Given the description of an element on the screen output the (x, y) to click on. 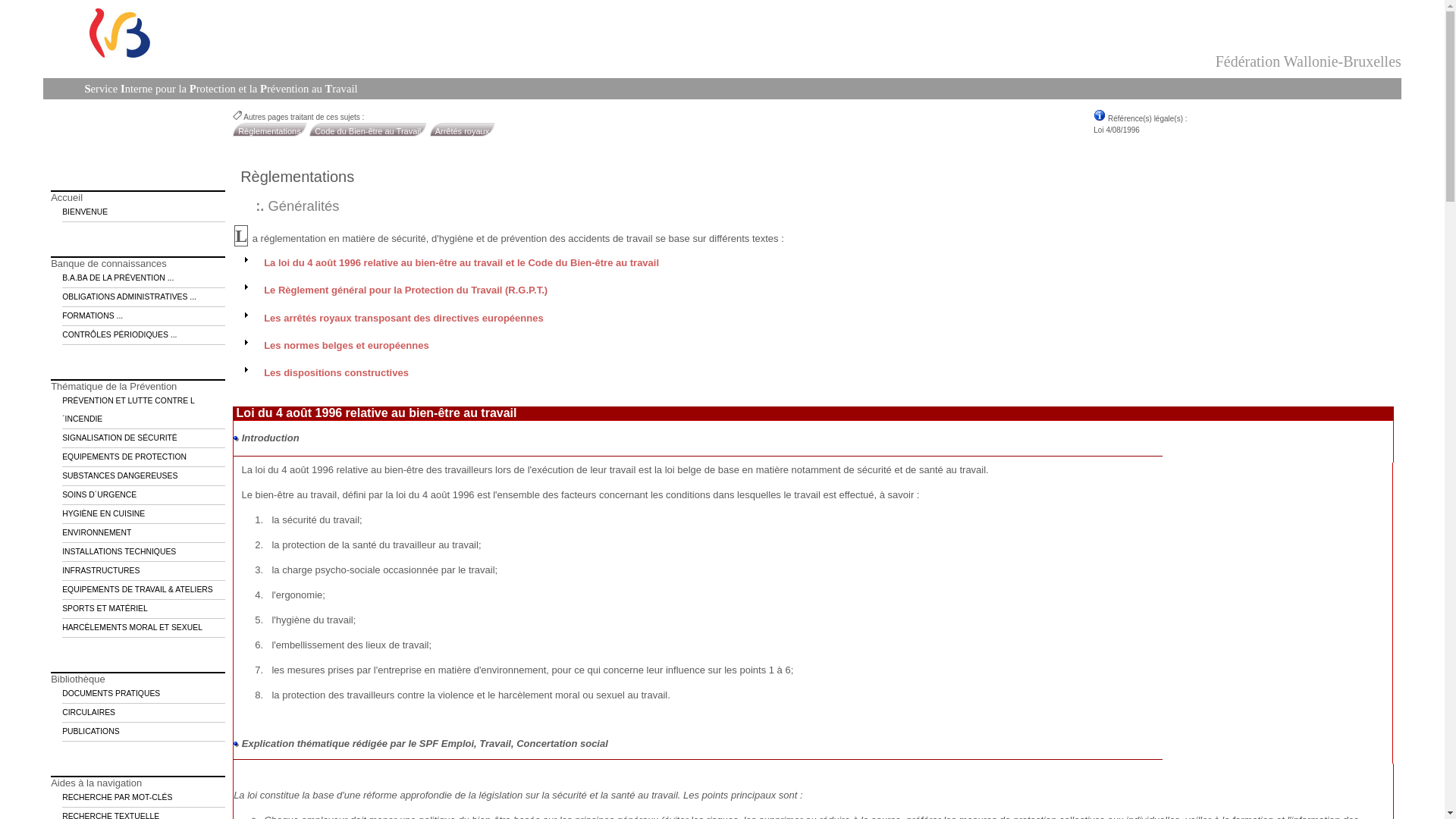
BIENVENUE Element type: text (143, 212)
FORMATIONS ... Element type: text (137, 316)
DOCUMENTS PRATIQUES Element type: text (137, 693)
ENVIRONNEMENT Element type: text (143, 533)
FORMATIONS ... Element type: text (143, 316)
EQUIPEMENTS DE TRAVAIL & ATELIERS Element type: text (143, 589)
SUBSTANCES DANGEREUSES Element type: text (143, 476)
EQUIPEMENTS DE PROTECTION Element type: text (143, 457)
PUBLICATIONS Element type: text (143, 731)
INFRASTRUCTURES Element type: text (143, 570)
Les dispositions constructives Element type: text (335, 372)
DOCUMENTS PRATIQUES Element type: text (143, 693)
OBLIGATIONS ADMINISTRATIVES ... Element type: text (137, 297)
CIRCULAIRES Element type: text (143, 712)
INSTALLATIONS TECHNIQUES Element type: text (143, 551)
PUBLICATIONS Element type: text (137, 731)
OBLIGATIONS ADMINISTRATIVES ... Element type: text (143, 297)
